Given the description of an element on the screen output the (x, y) to click on. 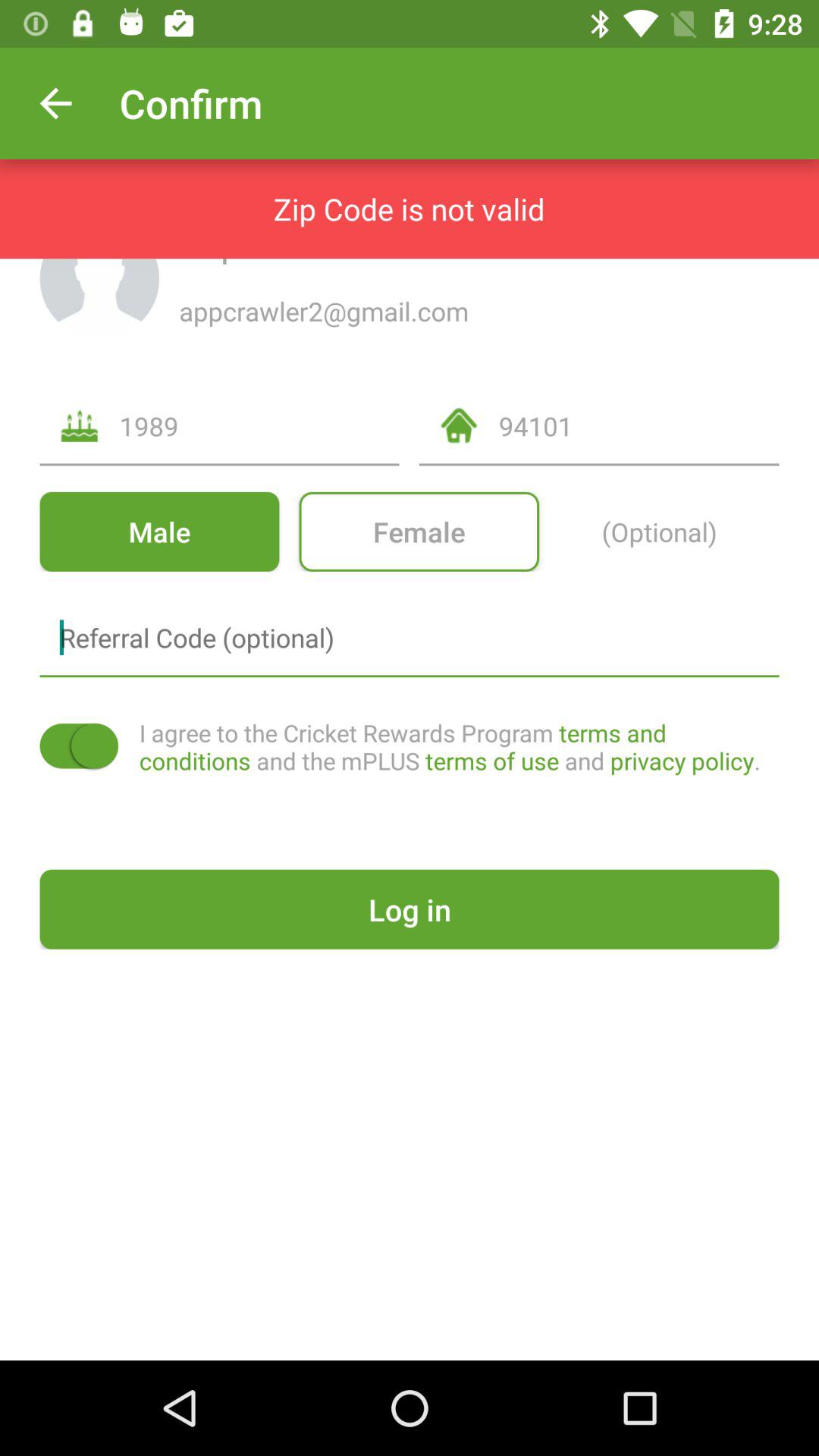
scroll until the i agree to (459, 746)
